Given the description of an element on the screen output the (x, y) to click on. 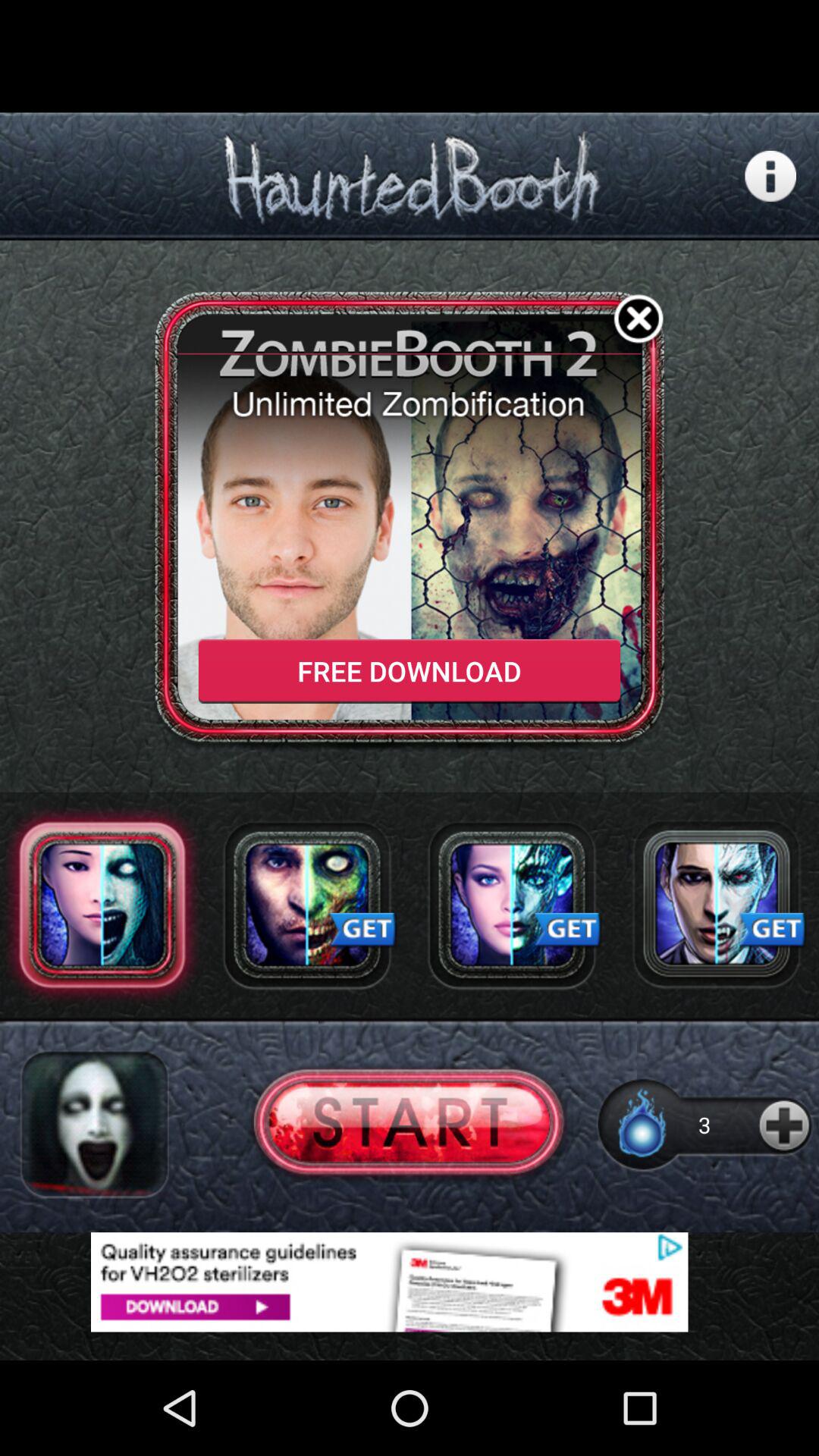
get info (770, 175)
